Given the description of an element on the screen output the (x, y) to click on. 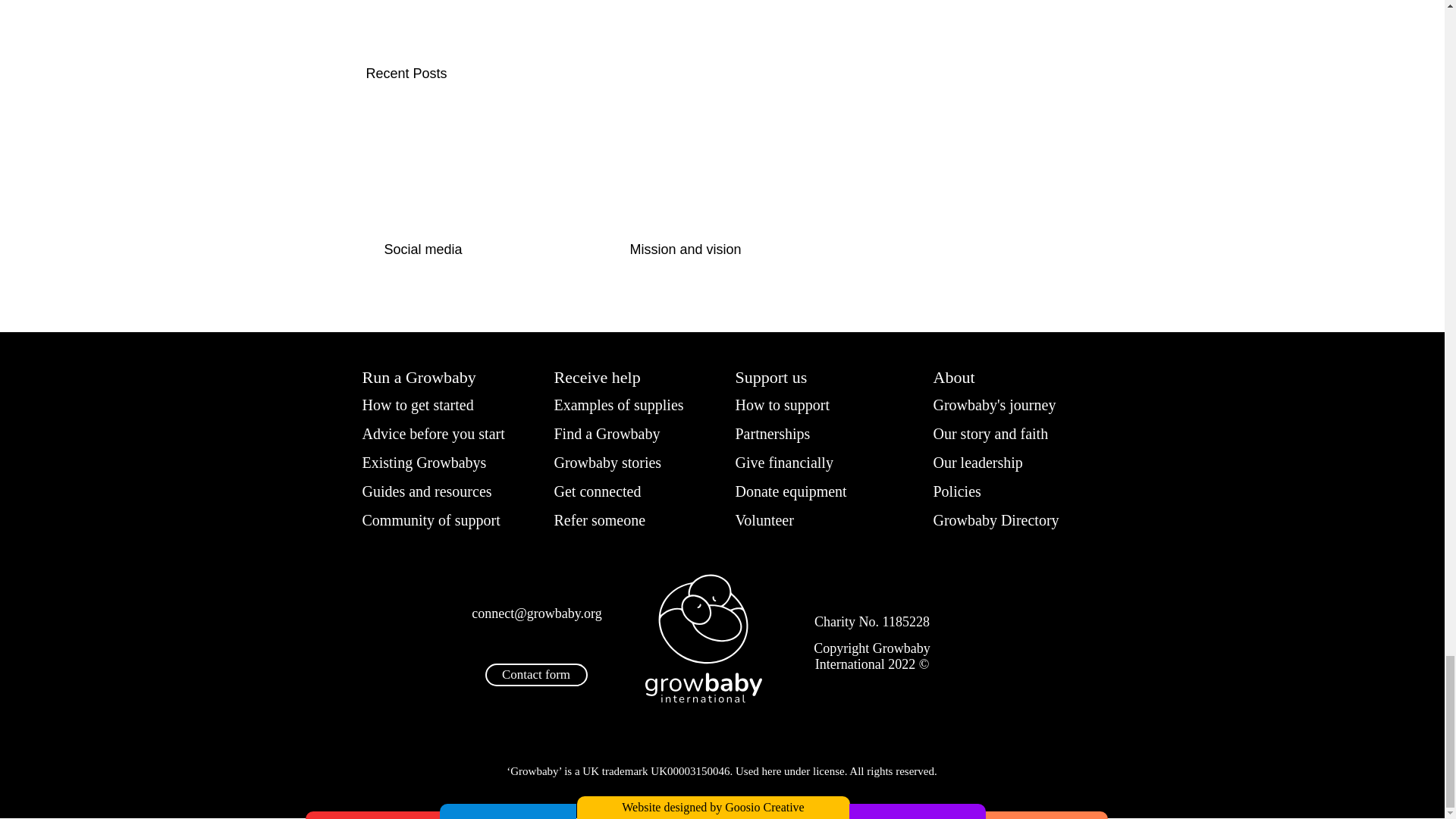
Refer someone (604, 519)
Growbaby's journey (1000, 404)
Mission and vision (720, 249)
Volunteer (768, 519)
Policies (959, 490)
Give financially (787, 462)
Our story and faith (997, 433)
Partnerships (779, 433)
Donate equipment (799, 490)
Existing Growbabys (431, 462)
Community of support (441, 519)
Growbaby stories (614, 462)
Growbaby Directory (1002, 519)
Social media (475, 249)
Advice before you start (442, 433)
